Given the description of an element on the screen output the (x, y) to click on. 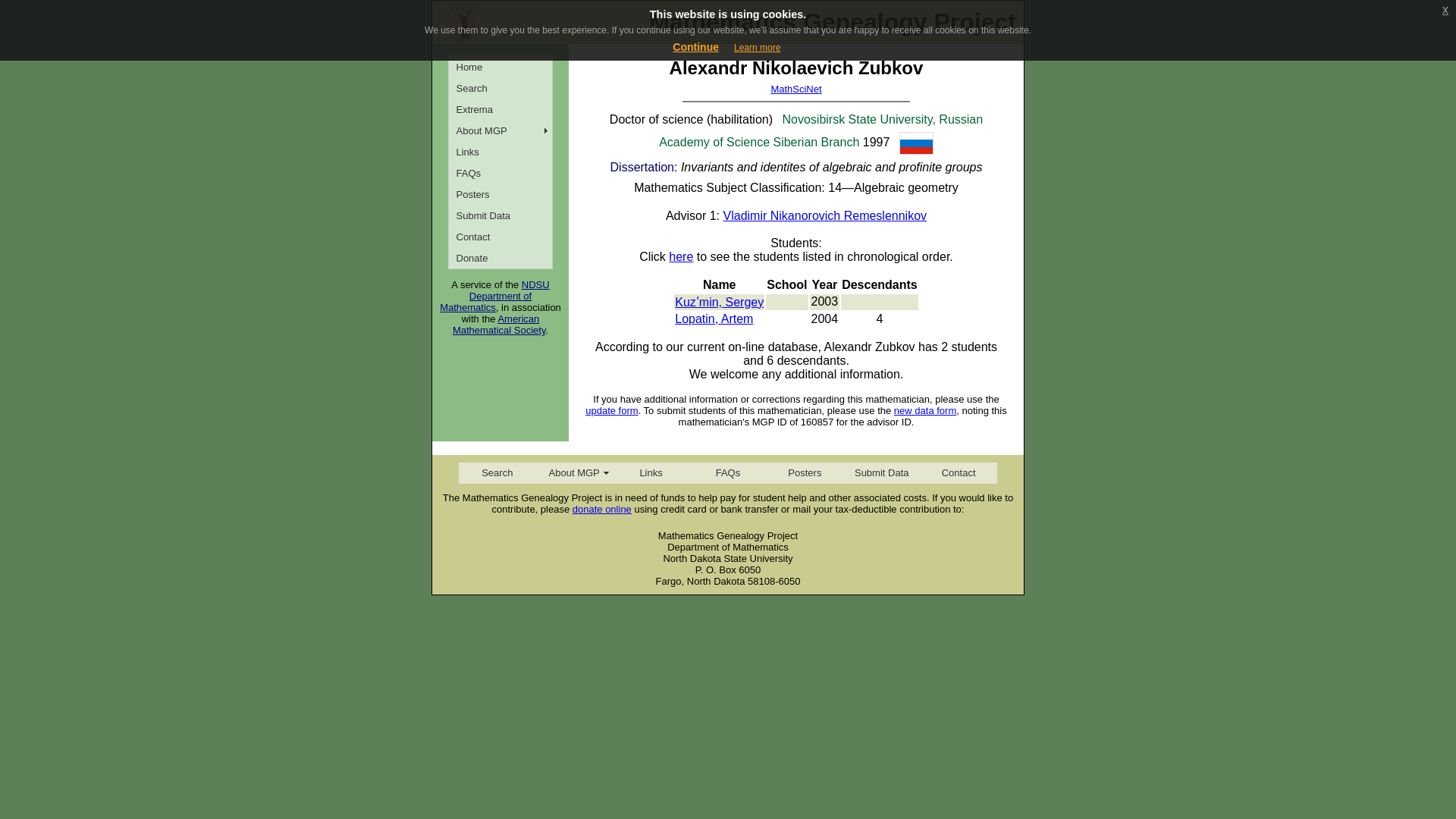
new data form (924, 410)
About MGP (573, 473)
Frequently Asked Questions (500, 172)
Vladimir Nikanorovich Remeslennikov (825, 215)
Search (496, 473)
FAQs (726, 473)
update form (611, 410)
Search (500, 87)
Links (500, 151)
Submit Data (881, 473)
NDSU (535, 284)
Posters (805, 473)
Department of Mathematics (485, 301)
Lopatin, Artem (713, 318)
Contact (957, 473)
